Given the description of an element on the screen output the (x, y) to click on. 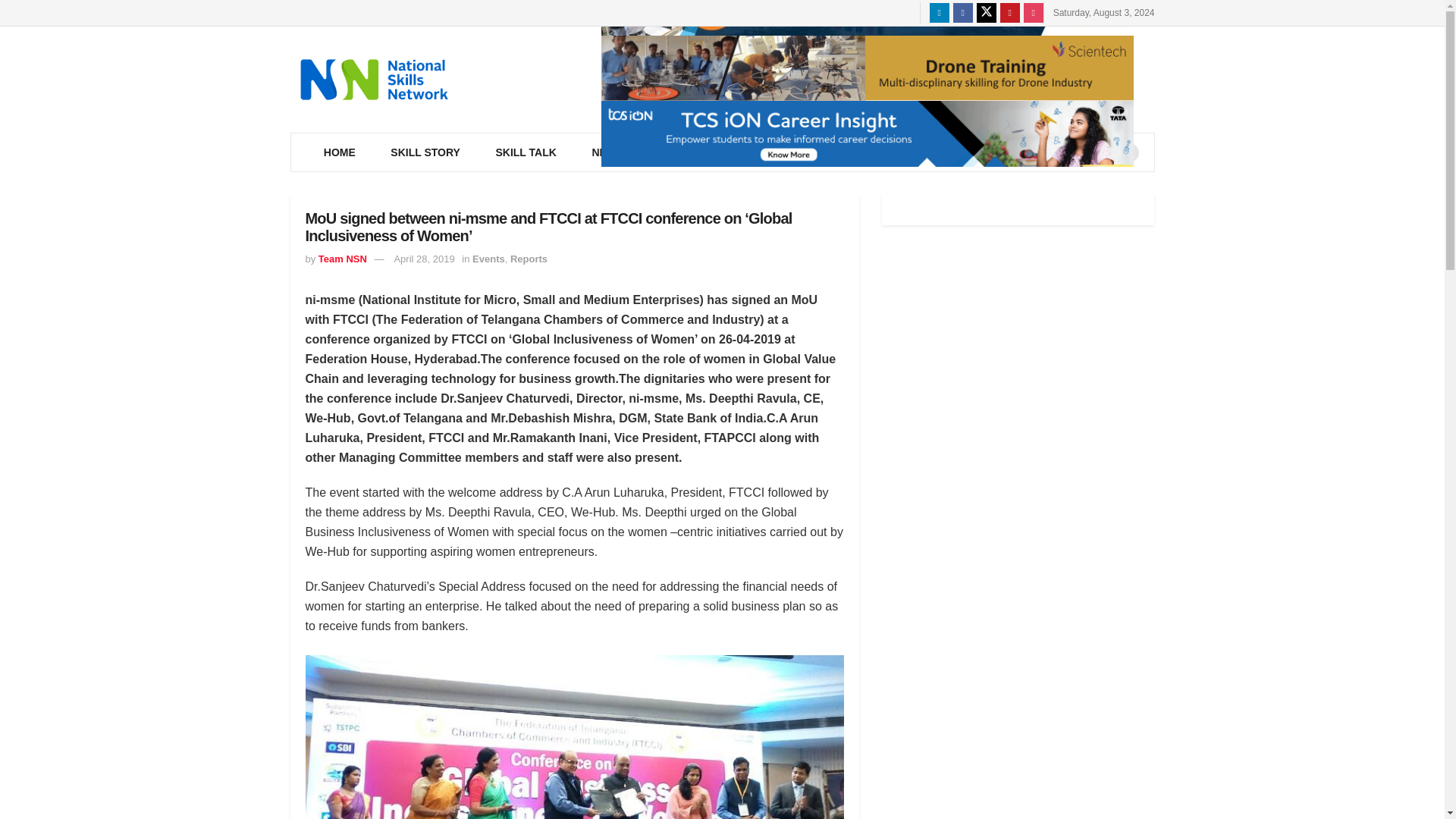
SKILL TALK (525, 152)
SKILL STORY (424, 152)
SKILL2JOBS (807, 152)
Drone PNG (865, 68)
HOME (339, 152)
SUCCESS STORIES (1024, 152)
RESOURCES (700, 152)
NEWS (609, 152)
ABOUT US (908, 152)
